Given the description of an element on the screen output the (x, y) to click on. 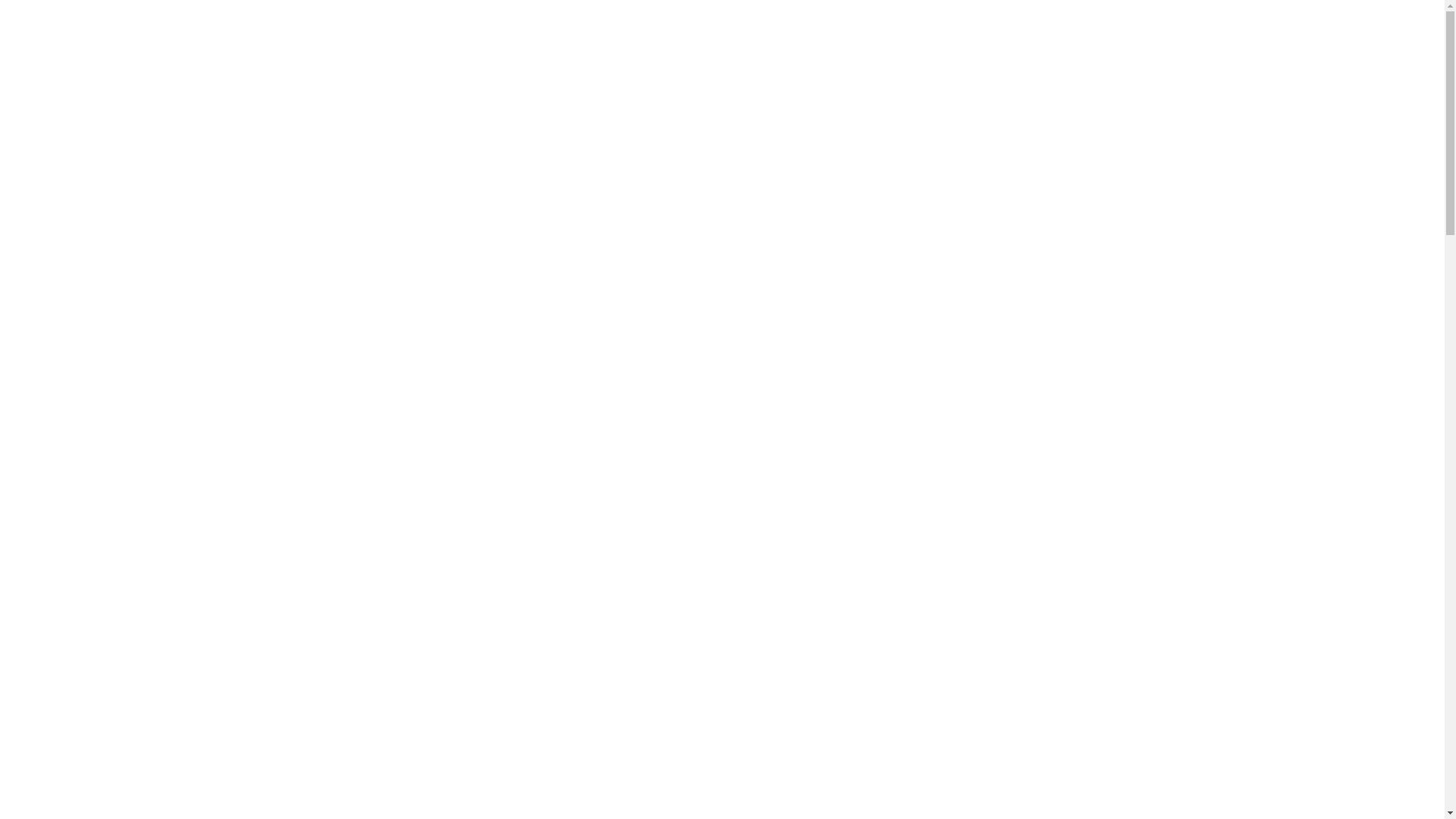
Ankommen Element type: text (421, 41)
Kontaktieren Element type: text (1046, 41)
